Given the description of an element on the screen output the (x, y) to click on. 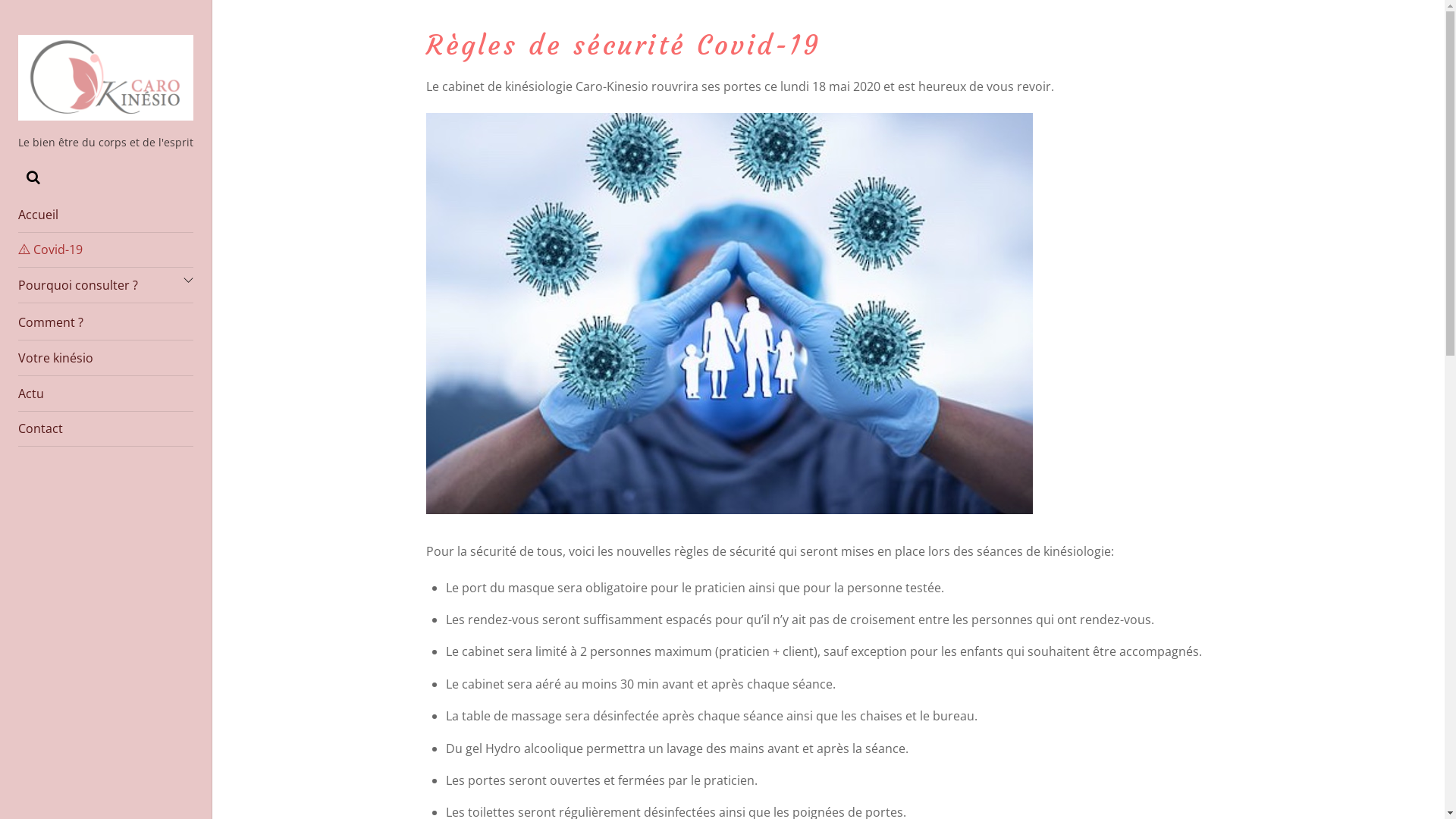
Actu Element type: text (105, 393)
Covid-19 Element type: text (105, 250)
Accueil Element type: text (105, 214)
Comment ? Element type: text (105, 323)
Contact Element type: text (105, 429)
Pourquoi consulter ? Element type: text (105, 285)
